Given the description of an element on the screen output the (x, y) to click on. 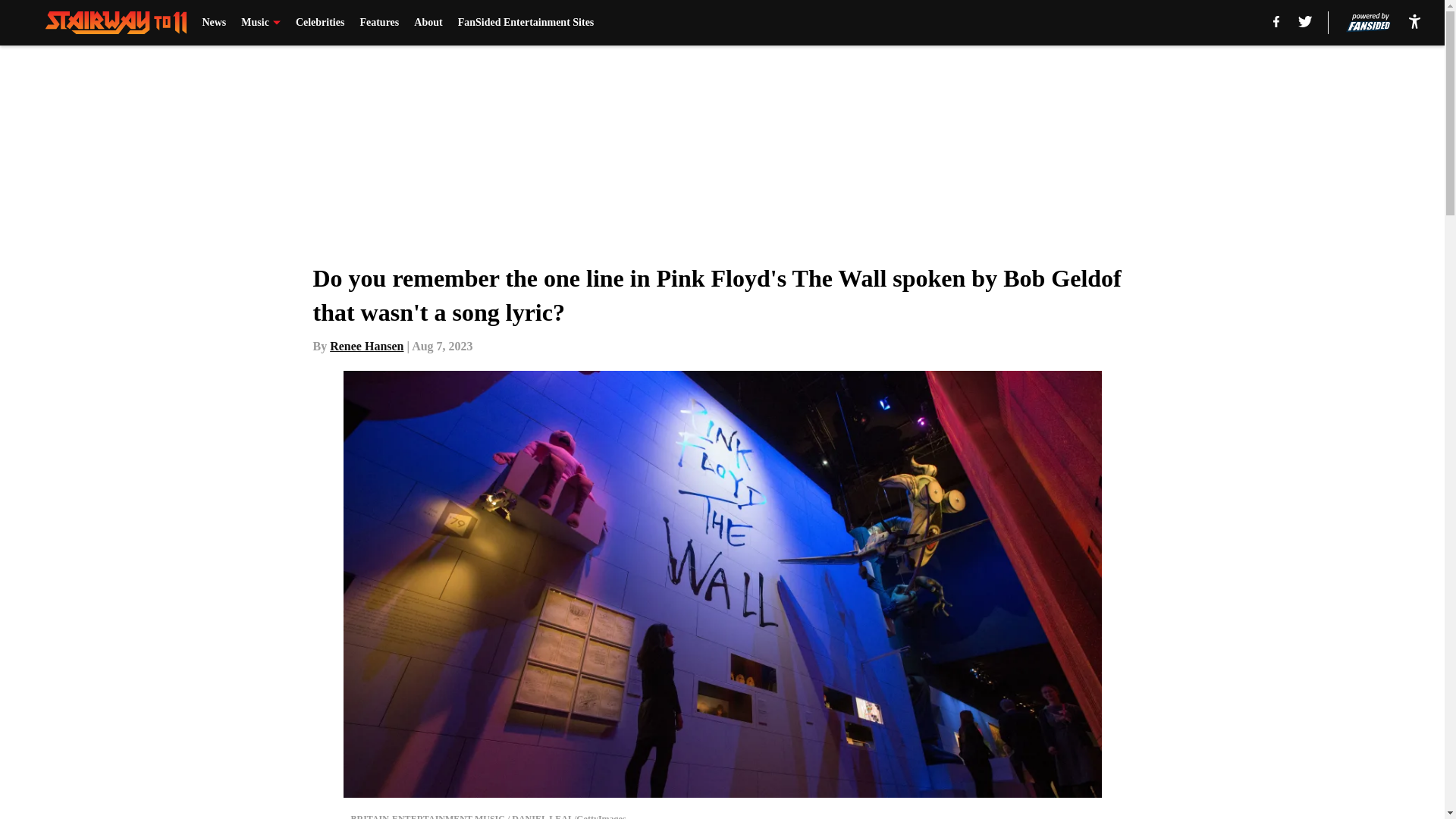
About (427, 22)
News (213, 22)
Music (261, 22)
Features (378, 22)
Celebrities (320, 22)
FanSided Entertainment Sites (526, 22)
Renee Hansen (366, 345)
